Given the description of an element on the screen output the (x, y) to click on. 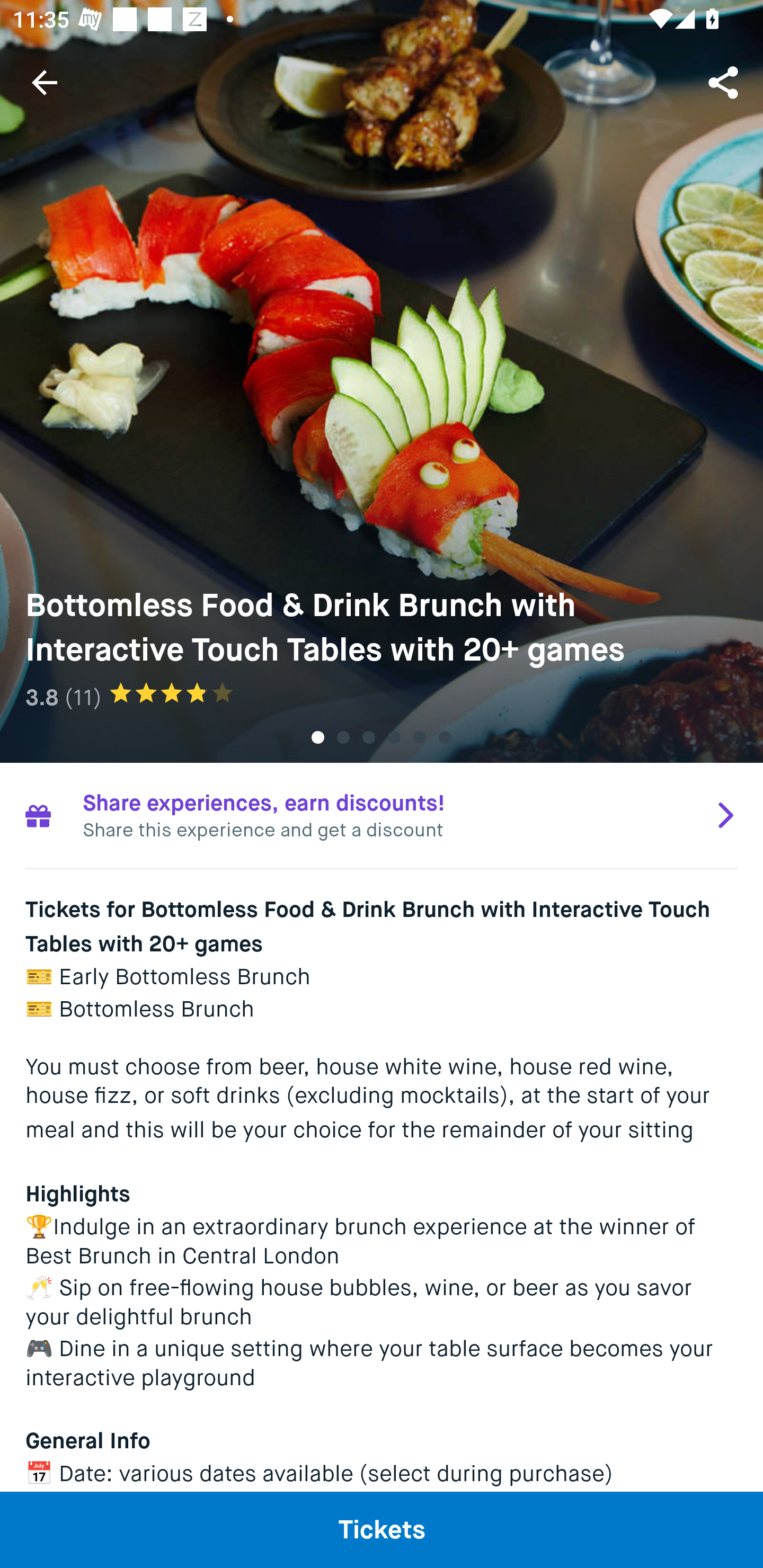
Navigate up (44, 82)
Share (724, 81)
(11) (82, 697)
Tickets (381, 1529)
